Given the description of an element on the screen output the (x, y) to click on. 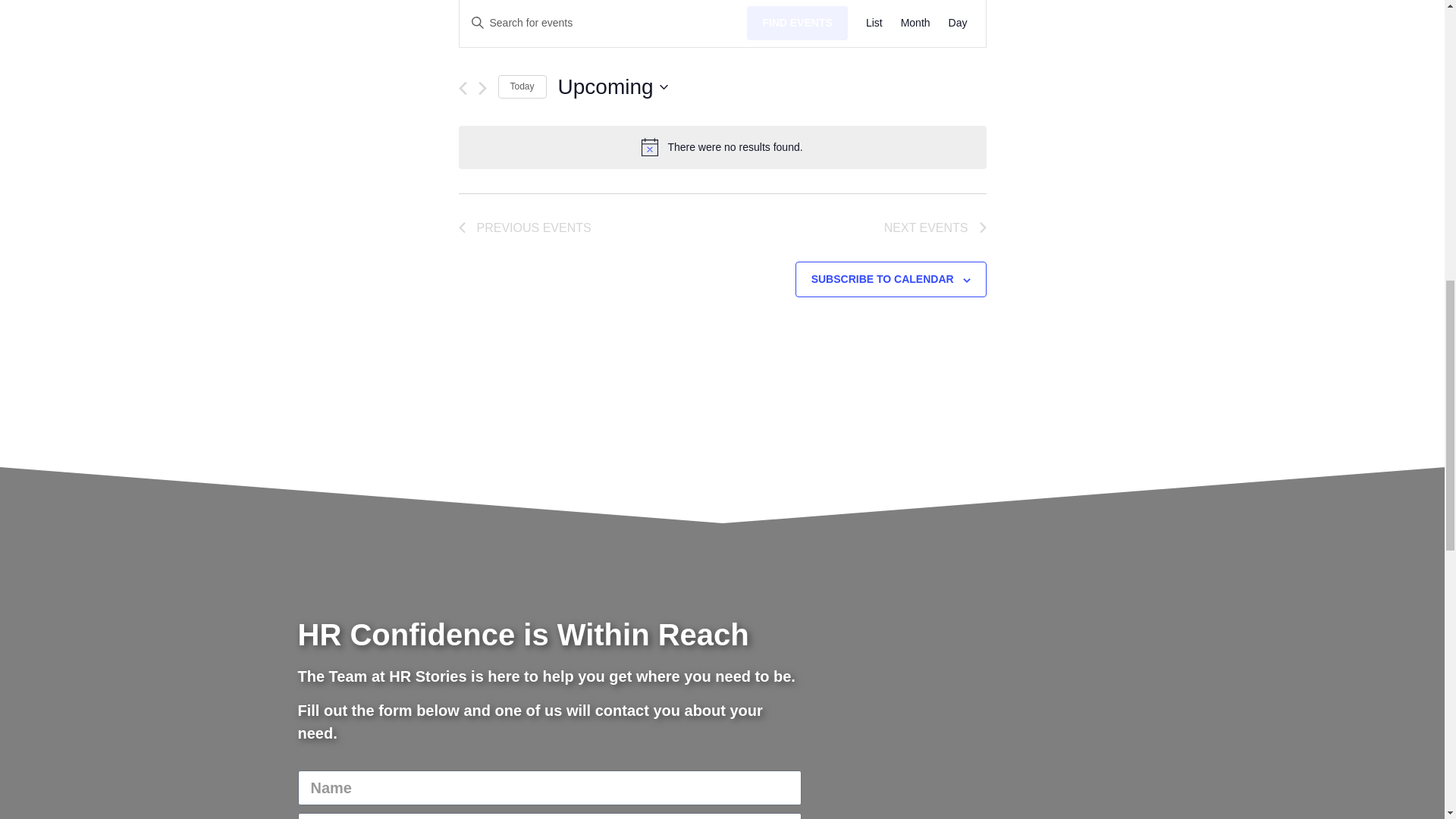
PREVIOUS EVENTS (524, 228)
Click to select today's date (521, 86)
Click to toggle datepicker (612, 87)
FIND EVENTS (796, 22)
Next Events (935, 228)
SUBSCRIBE TO CALENDAR (881, 278)
Upcoming (612, 87)
Today (521, 86)
Previous Events (524, 228)
NEXT EVENTS (935, 228)
